Given the description of an element on the screen output the (x, y) to click on. 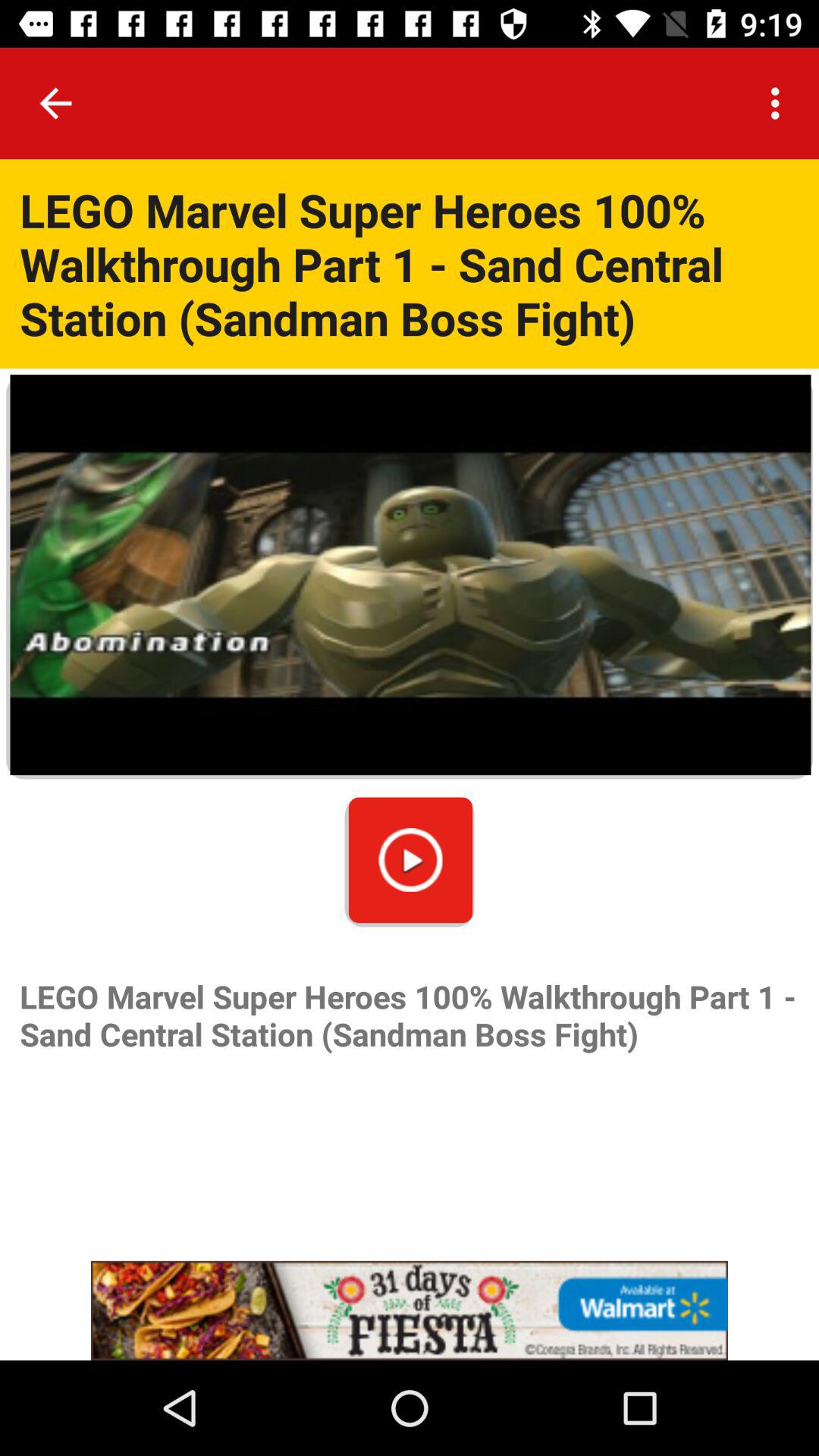
advertisement (409, 1310)
